Given the description of an element on the screen output the (x, y) to click on. 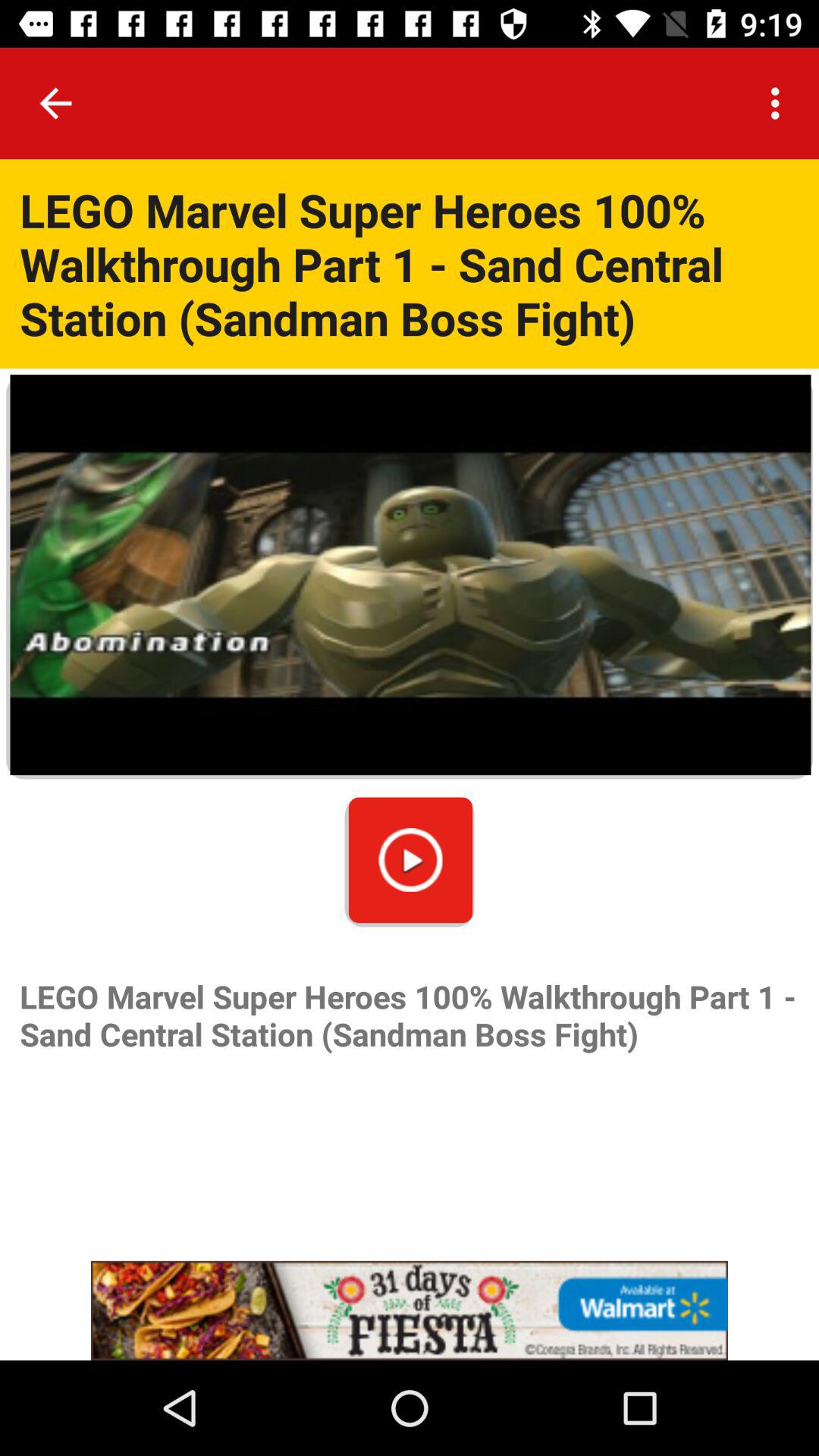
advertisement (409, 1310)
